Given the description of an element on the screen output the (x, y) to click on. 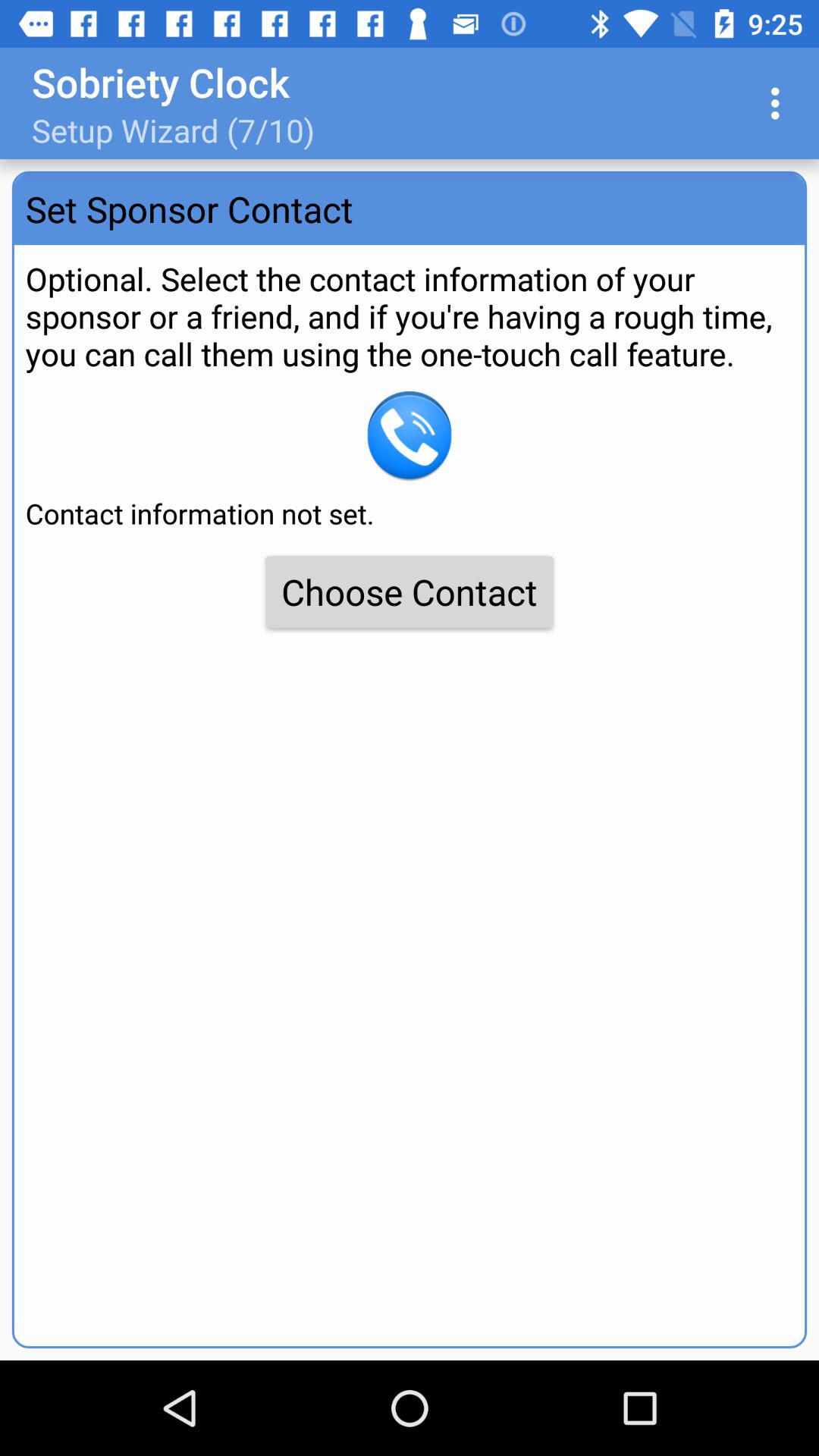
tap the choose contact icon (409, 591)
